Given the description of an element on the screen output the (x, y) to click on. 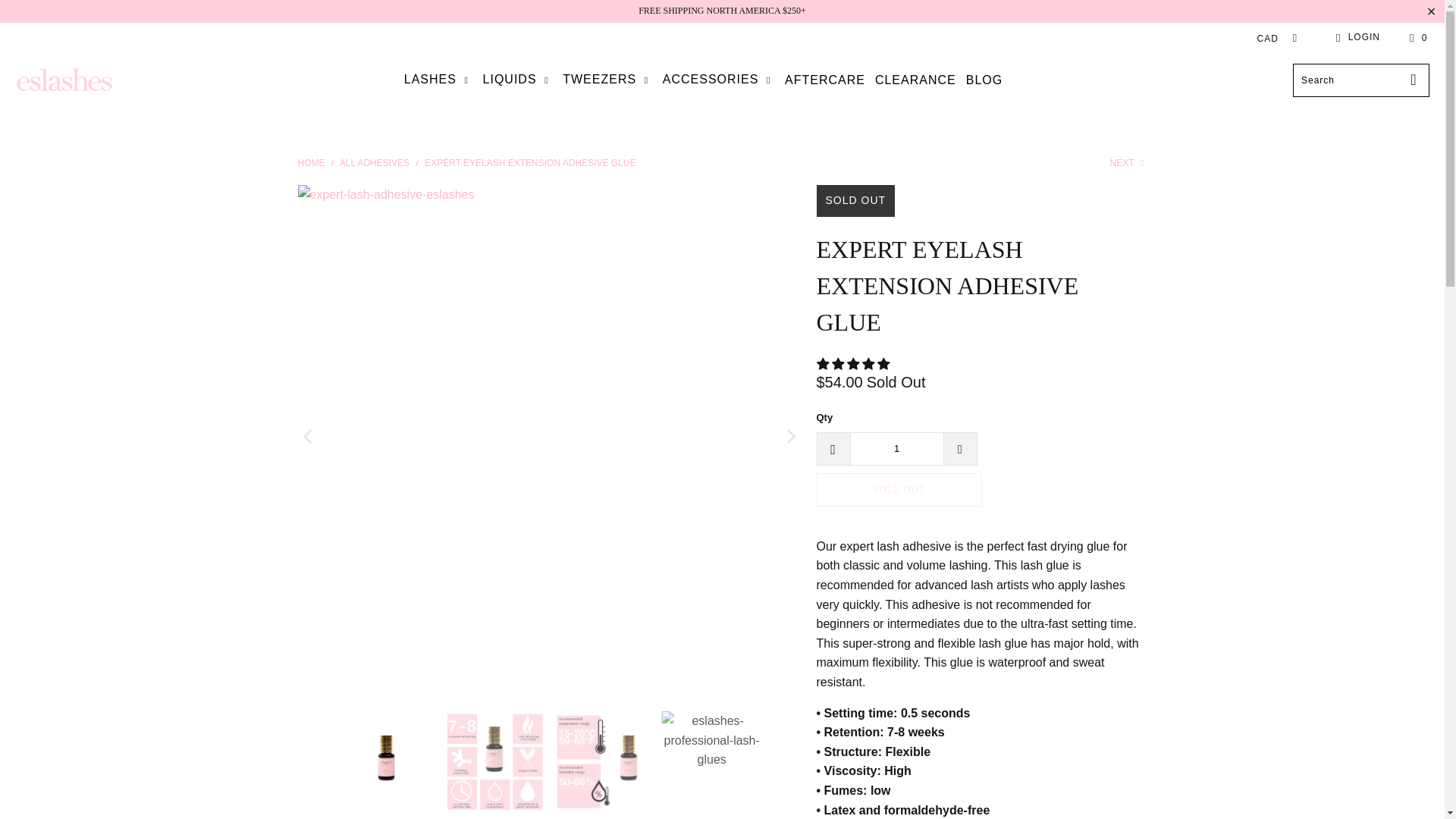
All Adhesives (374, 163)
My Account  (1355, 37)
1 (895, 449)
eslashes (63, 80)
eslashes (310, 163)
Next (1128, 163)
